Given the description of an element on the screen output the (x, y) to click on. 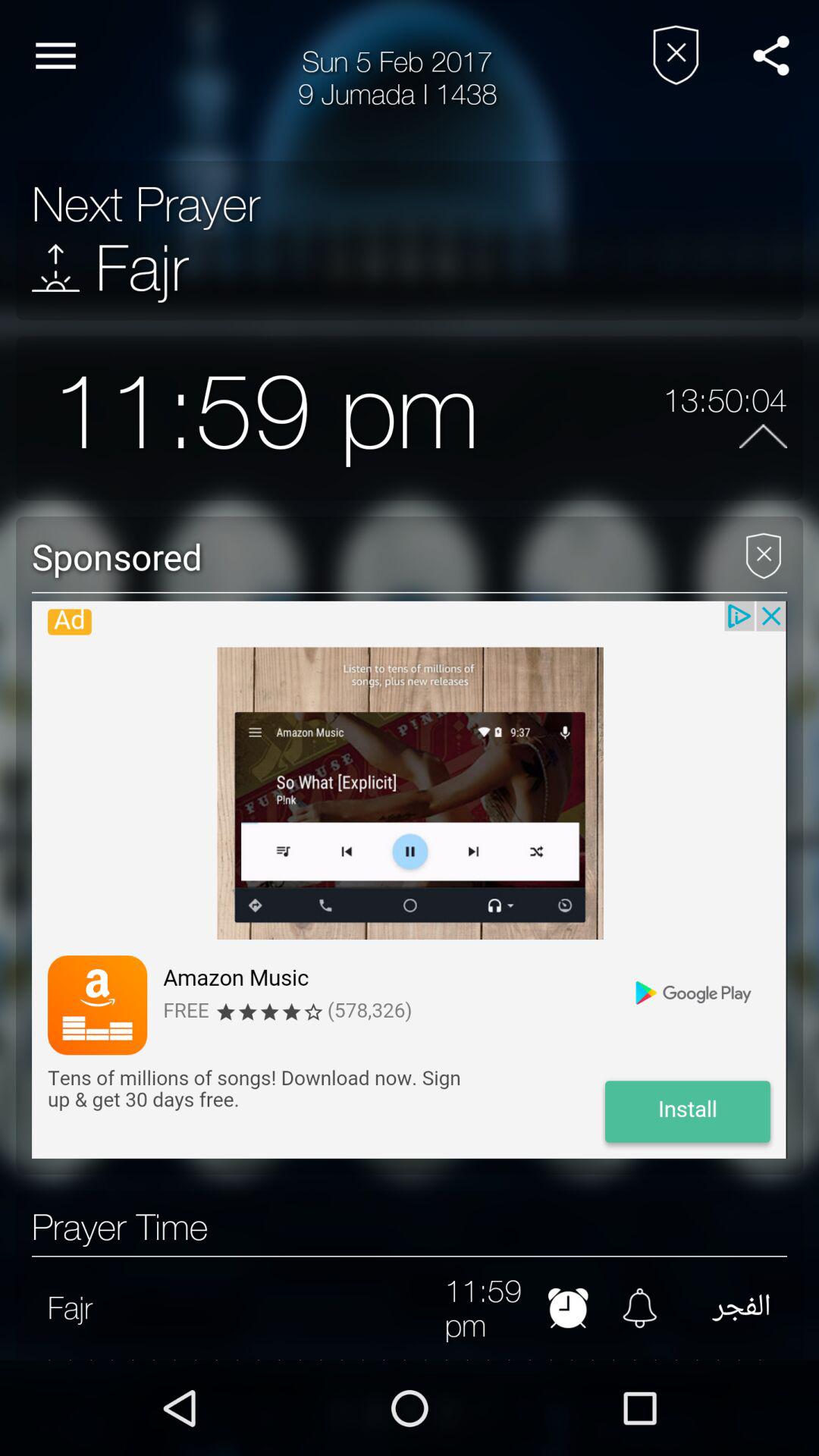
press icon above prayer time item (408, 879)
